Given the description of an element on the screen output the (x, y) to click on. 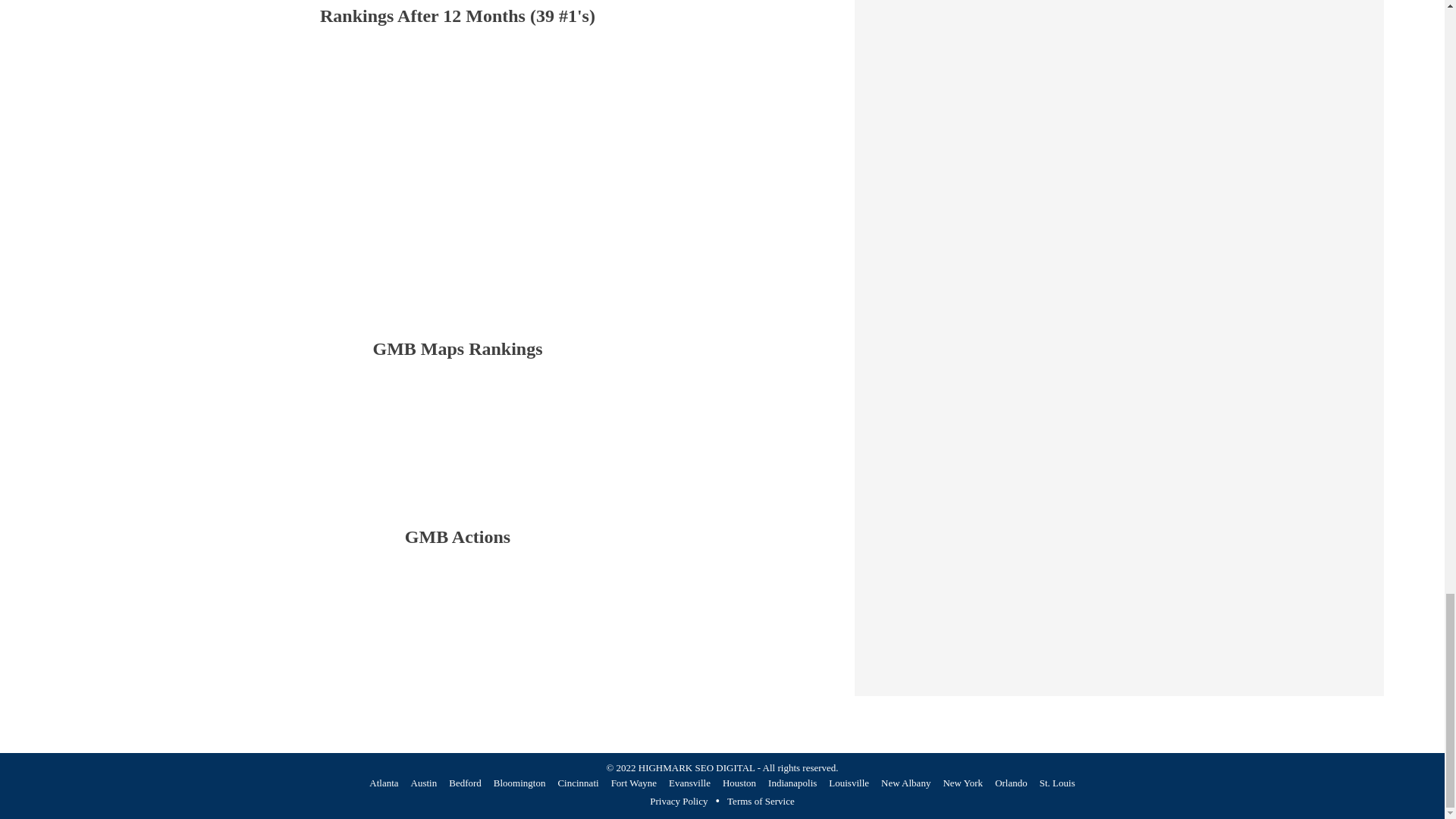
Bloomington (519, 783)
Houston (738, 783)
Cincinnati (577, 783)
Austin (424, 783)
Fort Wayne (633, 783)
Evansville (689, 783)
New York (962, 783)
Privacy Policy (678, 801)
Atlanta (383, 783)
New Albany (905, 783)
Indianapolis (792, 783)
Terms of Service (760, 801)
Bedford (464, 783)
Louisville (848, 783)
St. Louis (1057, 783)
